Given the description of an element on the screen output the (x, y) to click on. 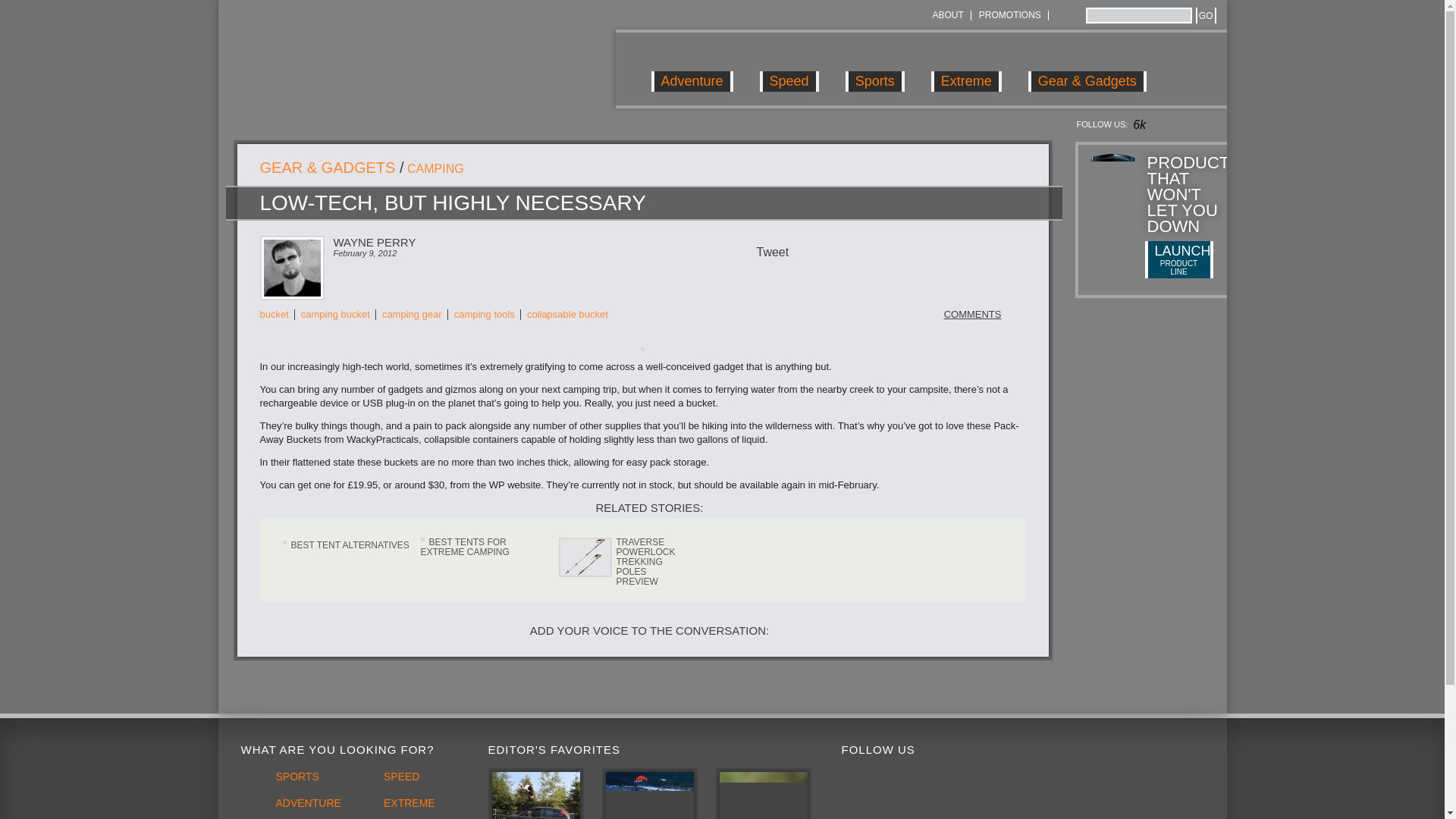
RSS FEED (1062, 15)
Adventure (691, 68)
PROMOTIONS (1009, 14)
Adventure (691, 68)
ABOUT (946, 14)
About (946, 14)
RSS Feed (1062, 15)
Go (1205, 15)
Speed (789, 68)
Search Site (1139, 15)
